Given the description of an element on the screen output the (x, y) to click on. 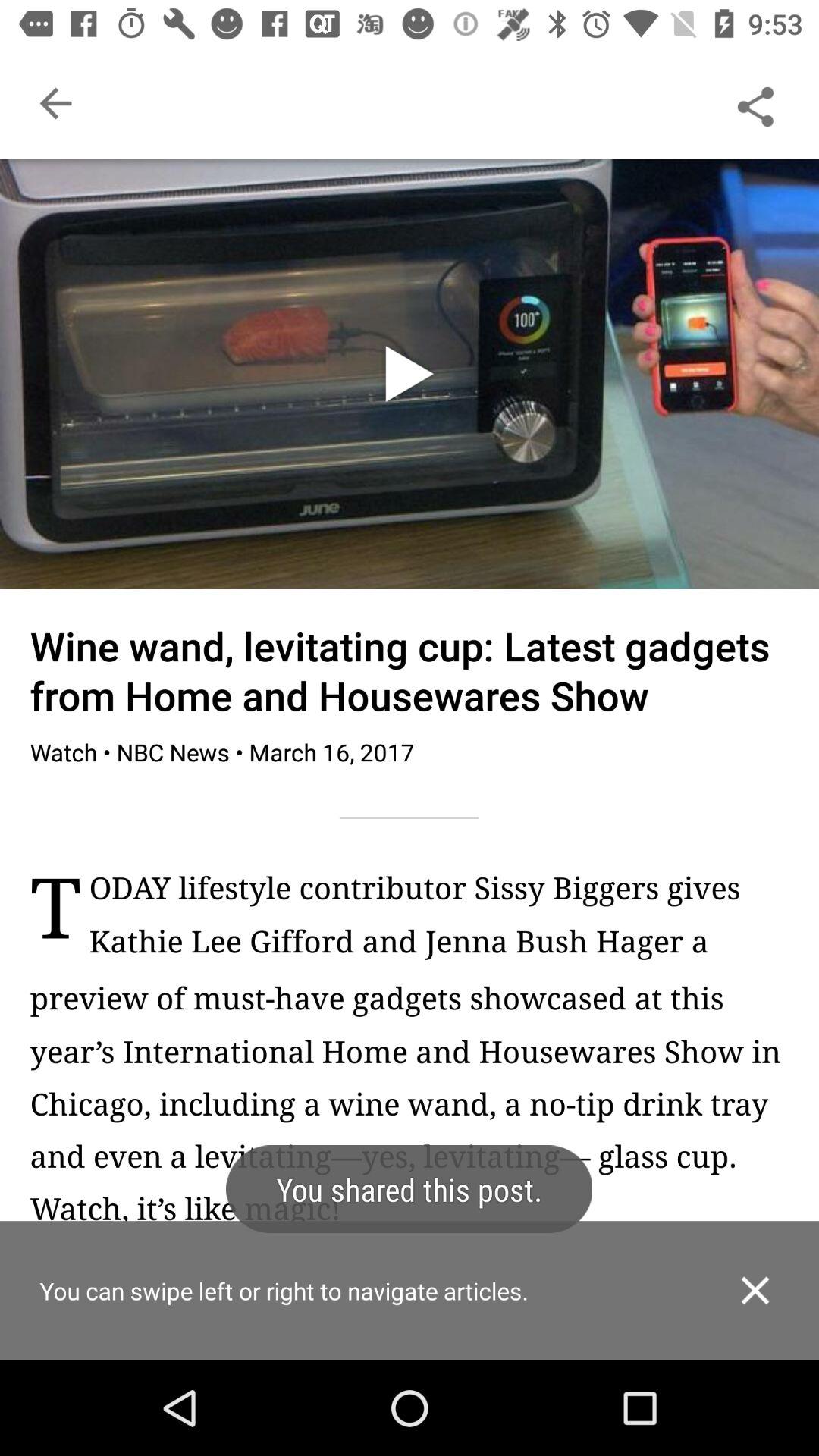
swipe (409, 1316)
